Given the description of an element on the screen output the (x, y) to click on. 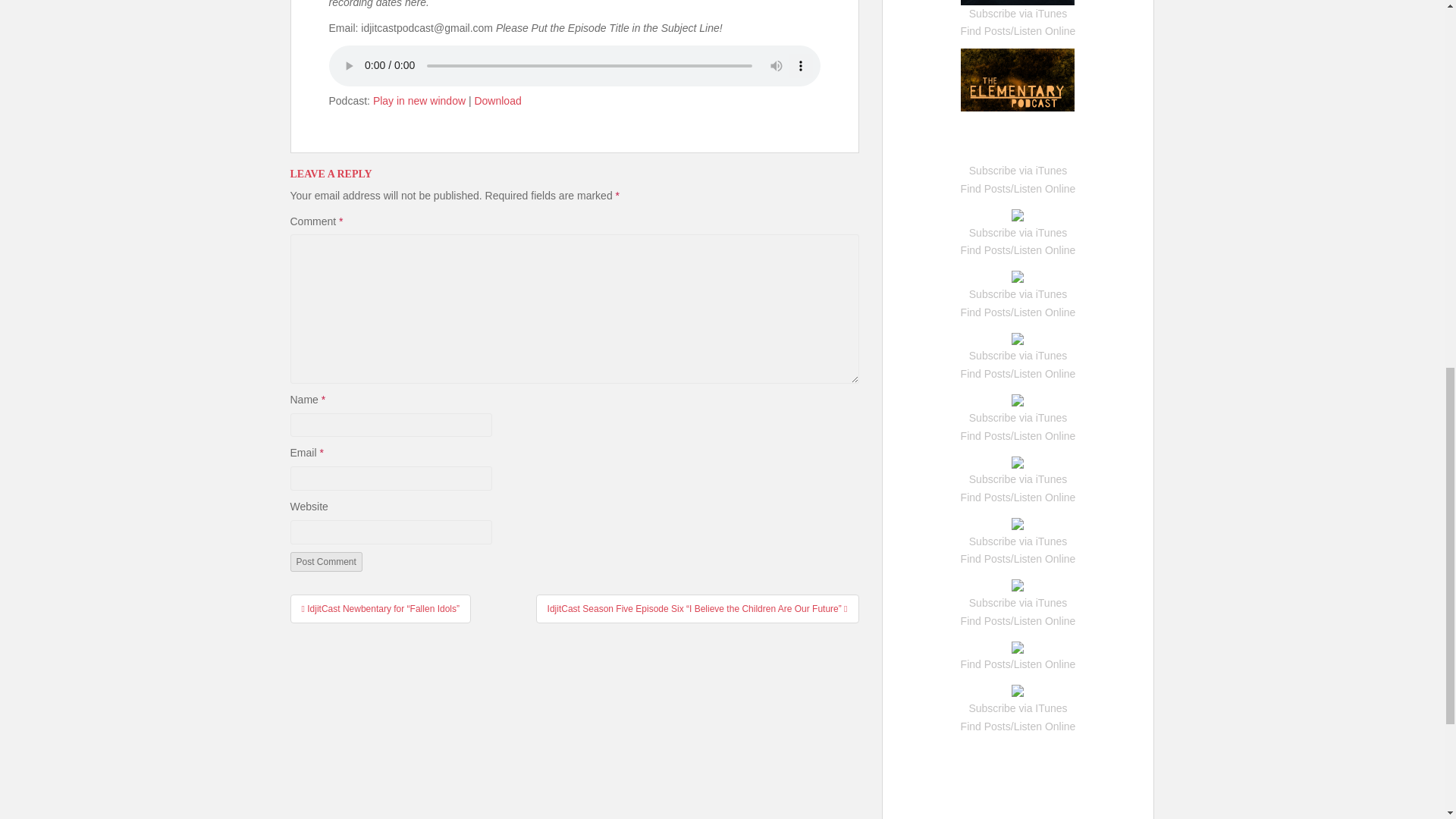
Post Comment (325, 561)
Play in new window (418, 101)
Play in new window (418, 101)
Download (497, 101)
Download (497, 101)
Post Comment (325, 561)
